Given the description of an element on the screen output the (x, y) to click on. 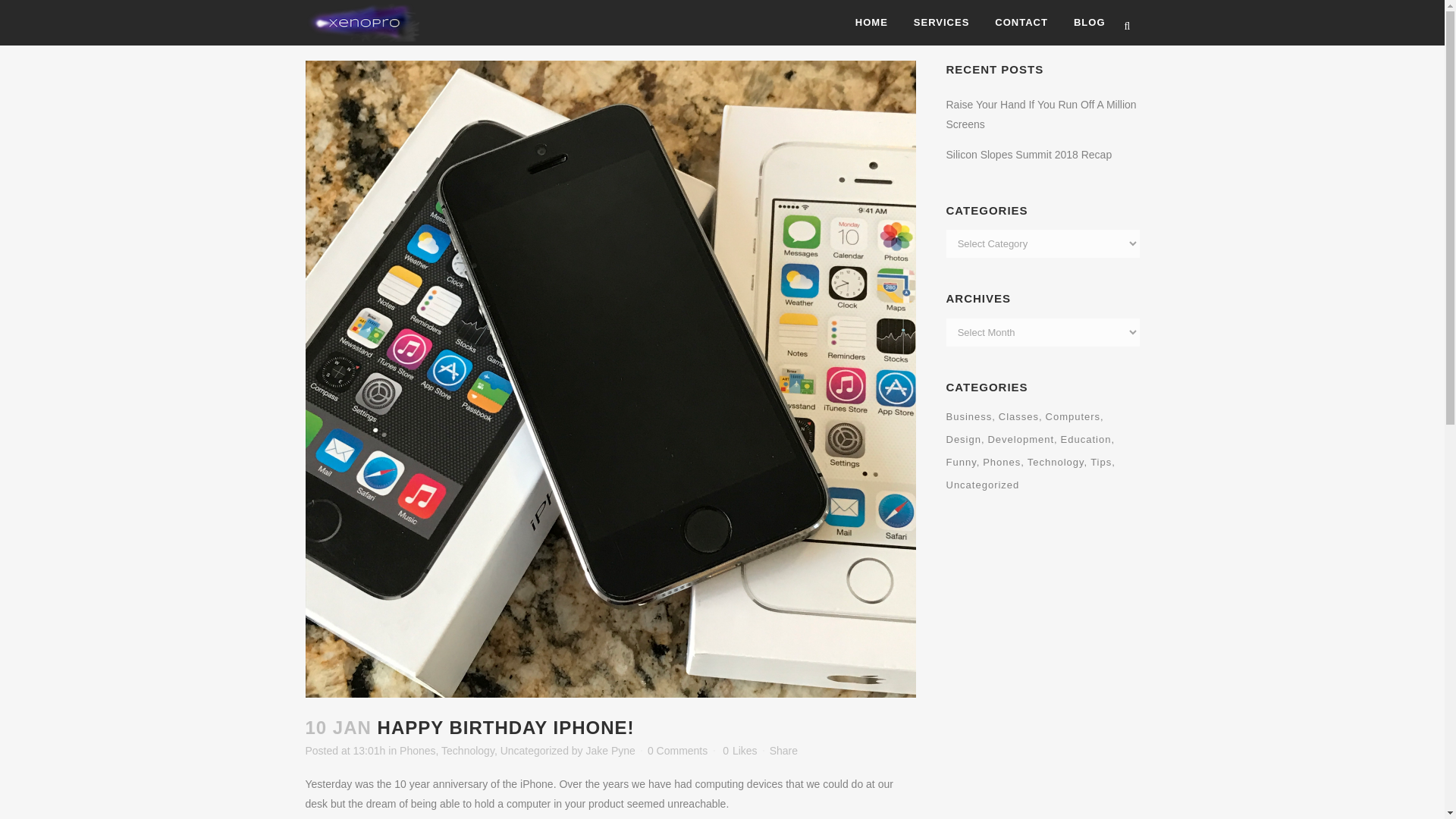
CONTACT (1021, 22)
0 Likes (739, 750)
Share (783, 750)
Business (970, 416)
Silicon Slopes Summit 2018 Recap (1029, 154)
Raise Your Hand If You Run Off A Million Screens (1041, 114)
Advertisement (1059, 624)
Classes (1020, 416)
Development (1022, 439)
Design (965, 439)
Jake Pyne (610, 750)
Technology (468, 750)
Funny (962, 462)
Like this (739, 750)
Phones (416, 750)
